Given the description of an element on the screen output the (x, y) to click on. 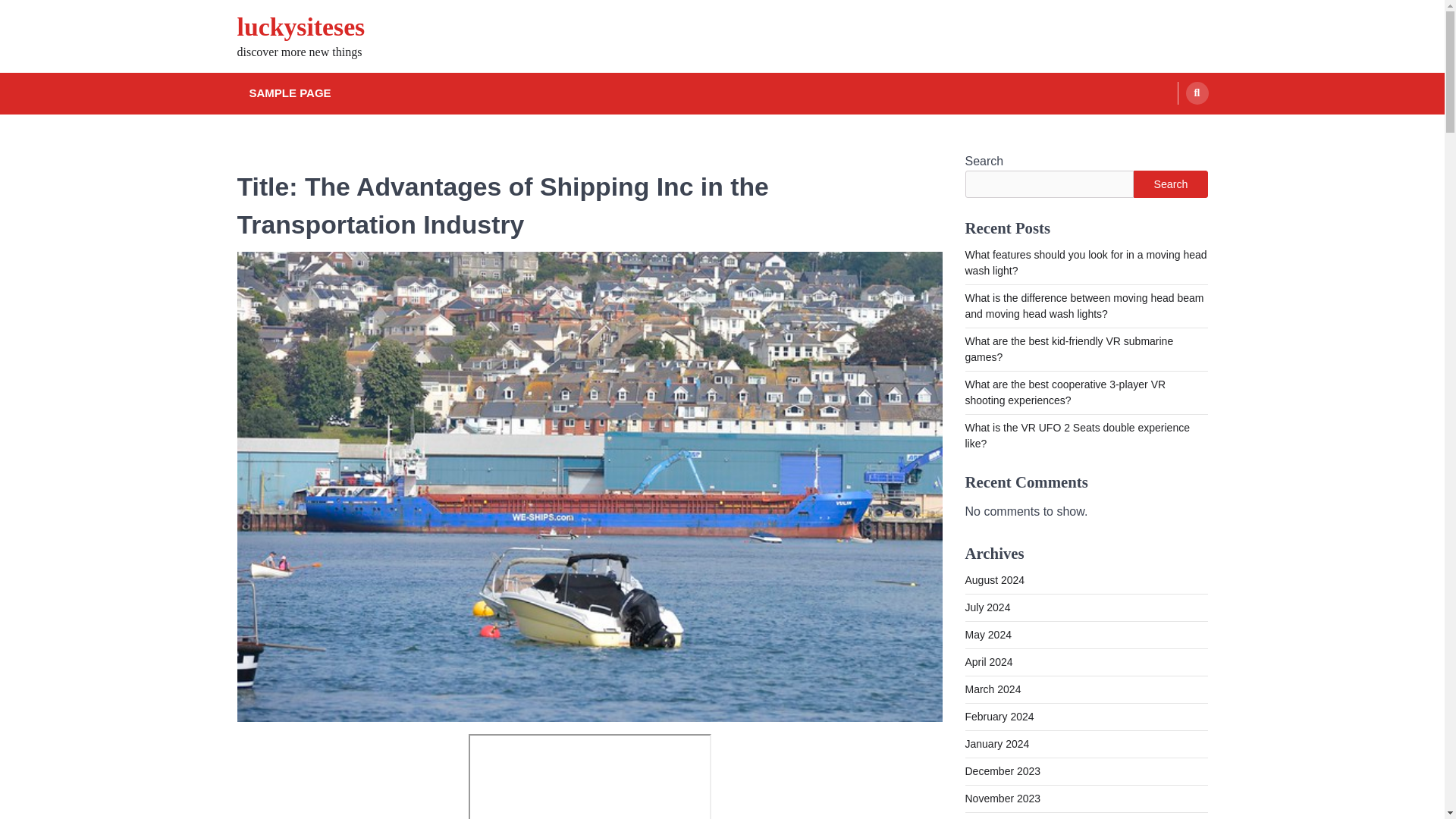
Search (1170, 184)
May 2024 (986, 634)
March 2024 (991, 689)
August 2024 (994, 580)
February 2024 (998, 716)
January 2024 (996, 743)
November 2023 (1002, 798)
luckysiteses (300, 26)
December 2023 (1002, 770)
What is the VR UFO 2 Seats double experience like? (1076, 435)
